Given the description of an element on the screen output the (x, y) to click on. 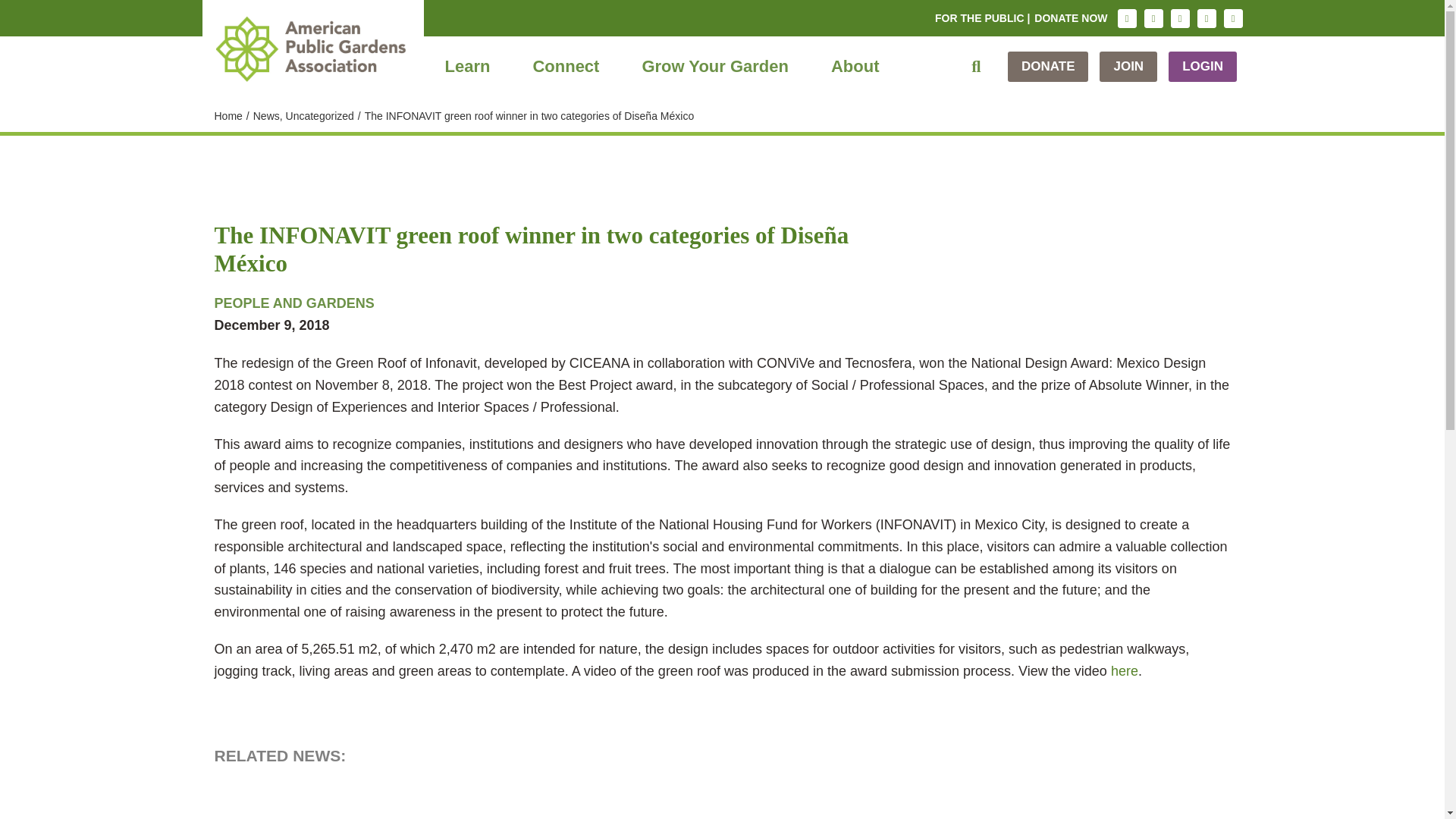
Facebook (1151, 18)
Connect (565, 66)
YouTube (1233, 18)
DONATE NOW (1070, 18)
YOUTUBE (1233, 18)
Search (976, 66)
Twitter (1179, 18)
Twitter (1179, 18)
Instagram (1127, 18)
LINKEDIN (1205, 18)
Learn (466, 66)
Instagram (1127, 18)
Facebook (1151, 18)
Grow Your Garden (714, 66)
LinkedIn (1205, 18)
